Given the description of an element on the screen output the (x, y) to click on. 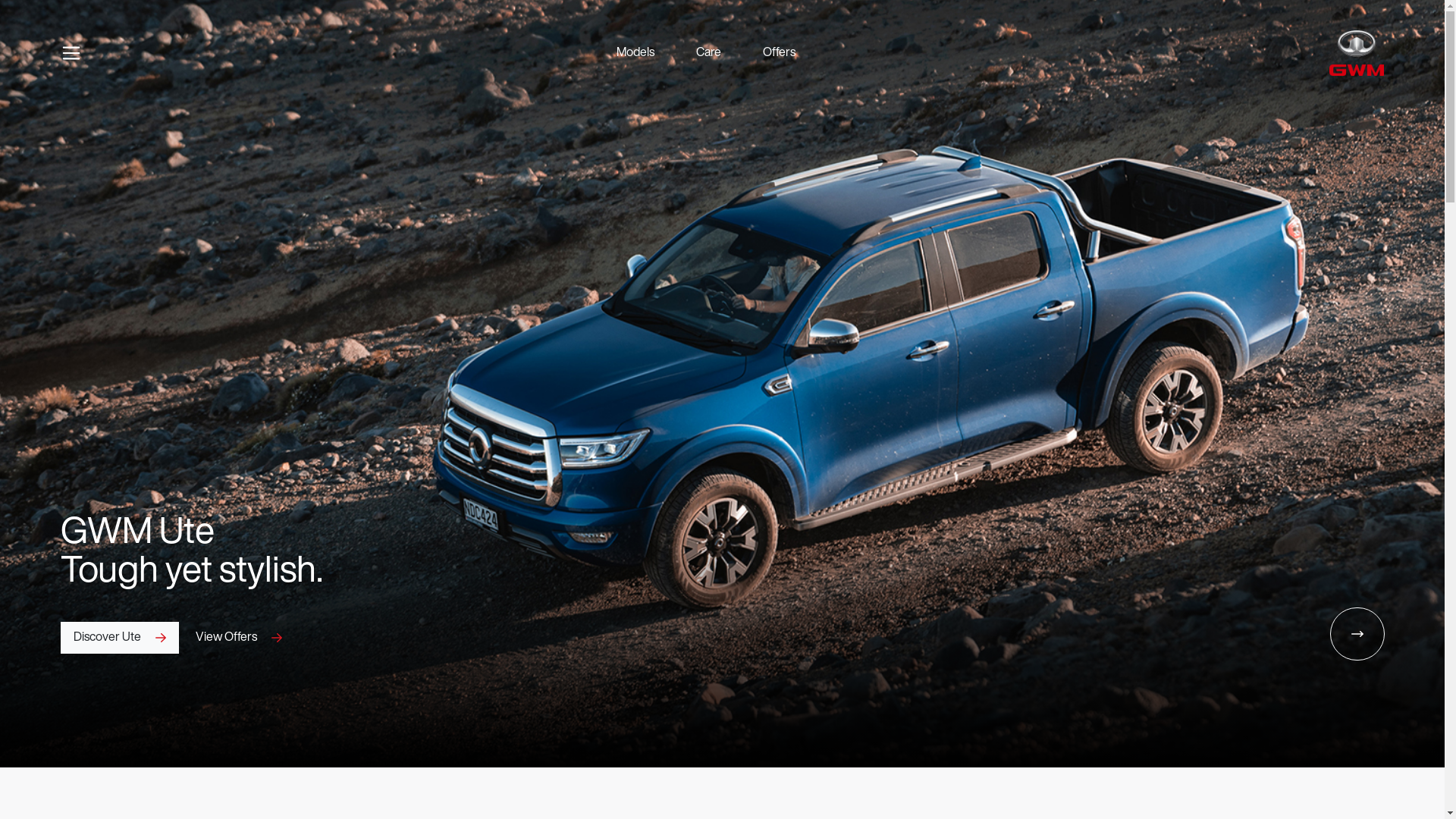
Offers Element type: text (778, 52)
Discover Ute Element type: text (119, 637)
Care Element type: text (708, 52)
Models Element type: text (634, 52)
View Offers Element type: text (238, 637)
